Given the description of an element on the screen output the (x, y) to click on. 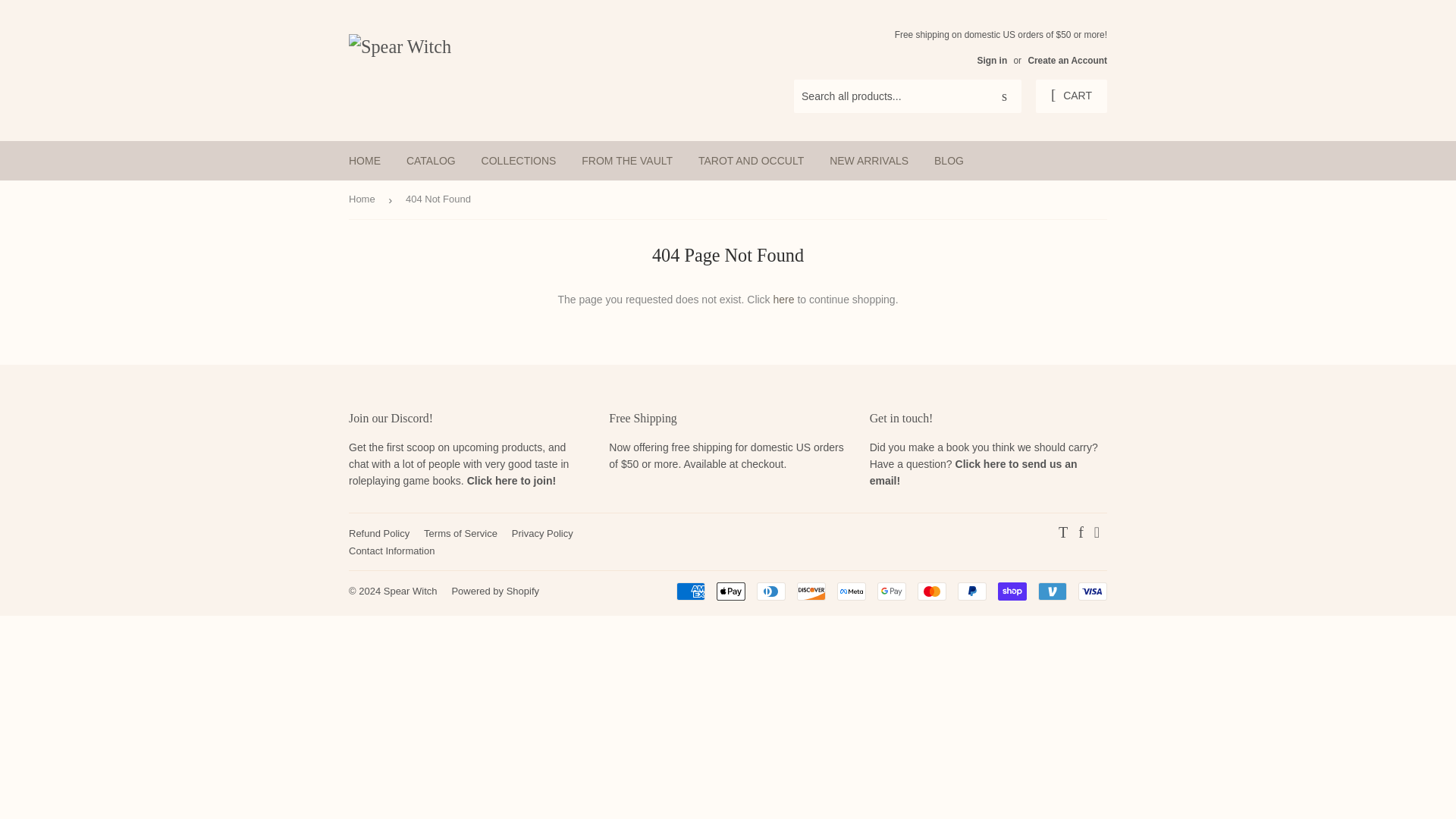
HOME (364, 160)
PayPal (972, 591)
CATALOG (430, 160)
Click here to send us an email! (973, 471)
COLLECTIONS (518, 160)
here (783, 299)
Terms of Service (460, 532)
Create an Account (1066, 60)
Visa (1092, 591)
Privacy Policy (542, 532)
Mastercard (931, 591)
NEW ARRIVALS (869, 160)
Contact Information (391, 550)
Google Pay (891, 591)
Discover (810, 591)
